Given the description of an element on the screen output the (x, y) to click on. 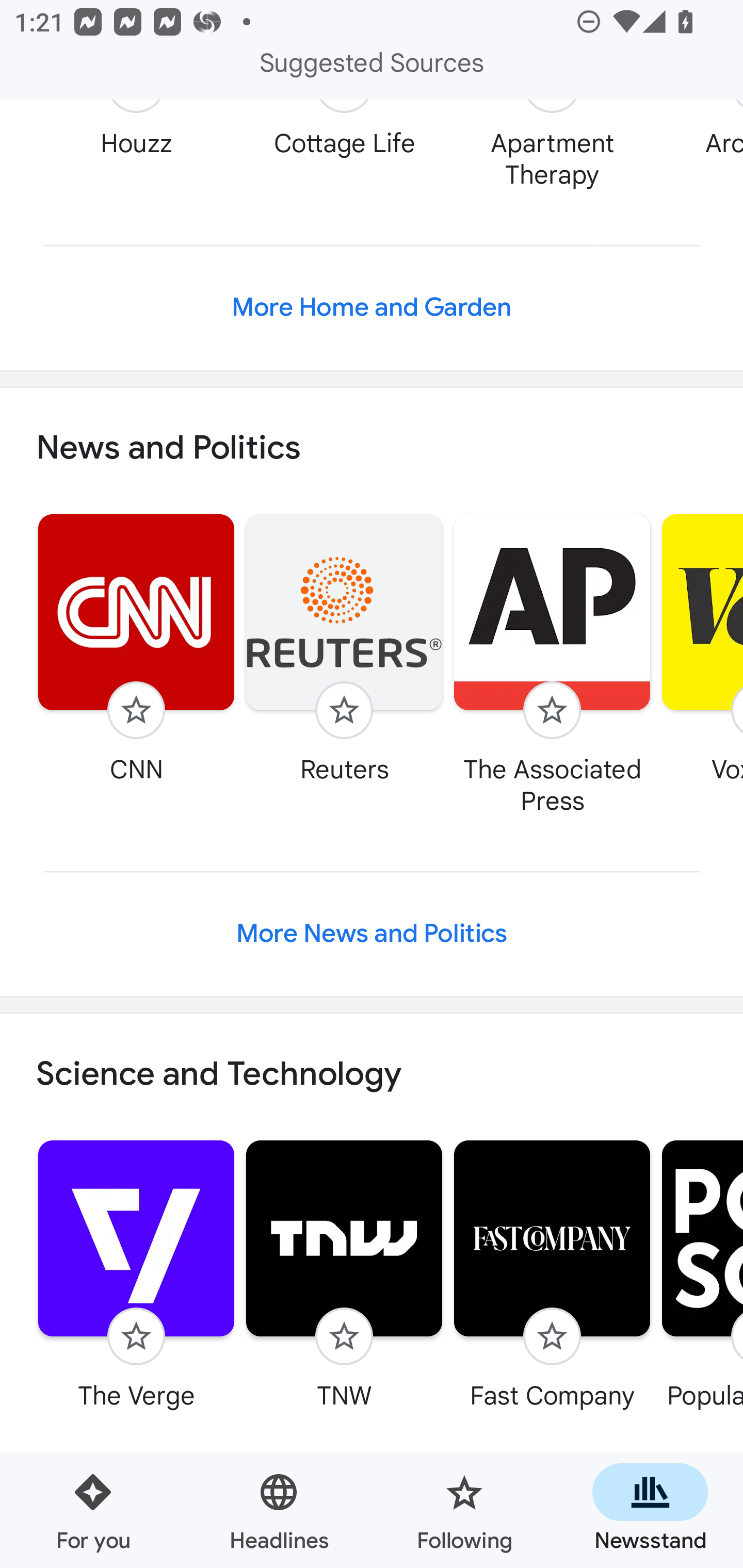
Follow Houzz (136, 129)
Follow Cottage Life (344, 129)
Follow Apartment Therapy (552, 145)
More Home and Garden (371, 308)
News and Politics (371, 447)
Follow CNN (136, 648)
Follow Reuters (344, 648)
Follow The Associated Press (552, 664)
Follow (135, 710)
Follow (343, 710)
Follow (552, 710)
More News and Politics (371, 933)
Science and Technology (371, 1074)
Follow The Verge (136, 1274)
Follow TNW (344, 1274)
Follow Fast Company (552, 1274)
Follow (135, 1336)
Follow (343, 1336)
Follow (552, 1336)
For you (92, 1509)
Headlines (278, 1509)
Following (464, 1509)
Newsstand (650, 1509)
